Given the description of an element on the screen output the (x, y) to click on. 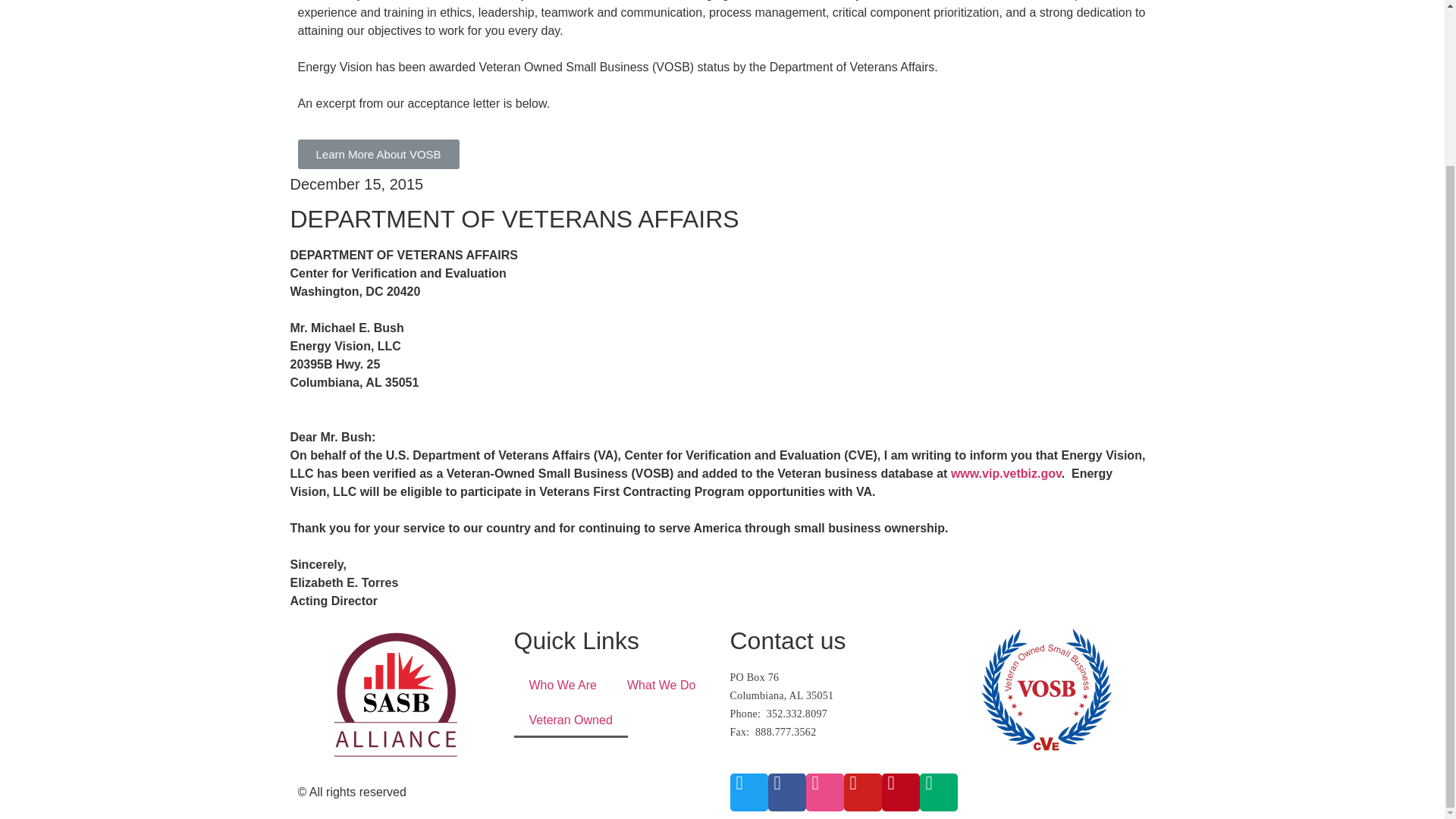
Learn More About VOSB (377, 153)
Who We Are (562, 685)
www.vip.vetbiz.gov (1005, 472)
What We Do (660, 685)
Veteran Owned (570, 719)
